Given the description of an element on the screen output the (x, y) to click on. 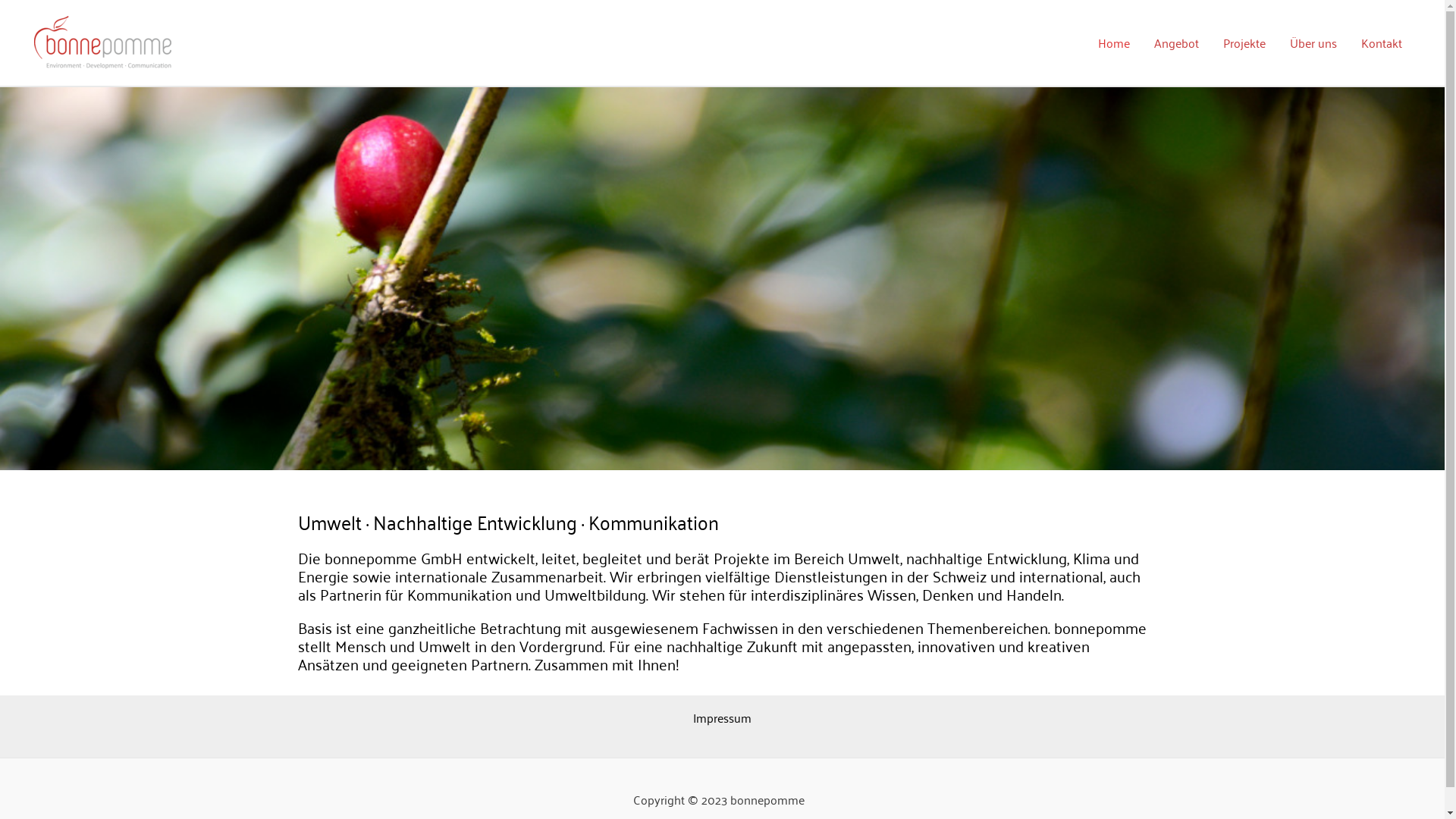
Impressum Element type: text (722, 717)
